Given the description of an element on the screen output the (x, y) to click on. 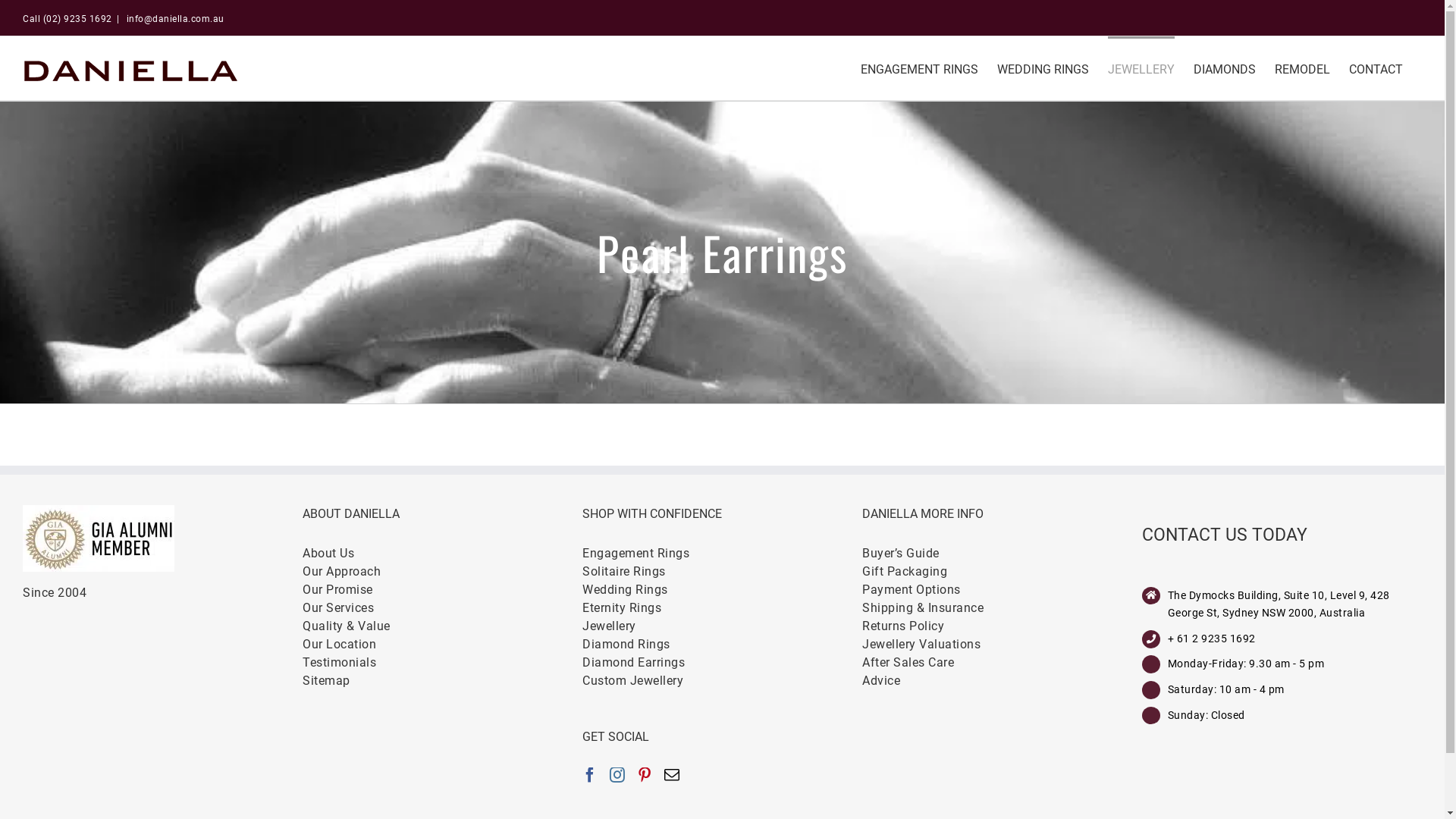
Solitaire Rings Element type: text (722, 571)
Pinterest Element type: hover (644, 774)
Jewellery Element type: text (722, 626)
Our Services Element type: text (442, 608)
Quality & Value Element type: text (442, 626)
JEWELLERY Element type: text (1140, 68)
Mail Element type: hover (672, 774)
REMODEL Element type: text (1302, 68)
Sitemap Element type: text (442, 680)
Returns Policy Element type: text (1002, 626)
ENGAGEMENT RINGS Element type: text (919, 68)
Instagram Element type: hover (617, 774)
Jewellery Valuations Element type: text (1002, 644)
Engagement Rings Element type: text (722, 553)
Gift Packaging Element type: text (1002, 571)
Payment Options Element type: text (1002, 589)
Wedding Rings Element type: text (722, 589)
Our Approach Element type: text (442, 571)
CONTACT Element type: text (1375, 68)
info@daniella.com.au Element type: text (173, 18)
Diamond Rings Element type: text (722, 644)
Advice Element type: text (1002, 680)
WEDDING RINGS Element type: text (1042, 68)
DIAMONDS Element type: text (1224, 68)
Custom Jewellery Element type: text (722, 680)
Eternity Rings Element type: text (722, 608)
Testimonials Element type: text (442, 662)
Our Promise Element type: text (442, 589)
After Sales Care Element type: text (1002, 662)
Diamond Earrings Element type: text (722, 662)
Shipping & Insurance Element type: text (1002, 608)
Facebook Element type: hover (590, 774)
About Us Element type: text (442, 553)
Our Location Element type: text (442, 644)
